Given the description of an element on the screen output the (x, y) to click on. 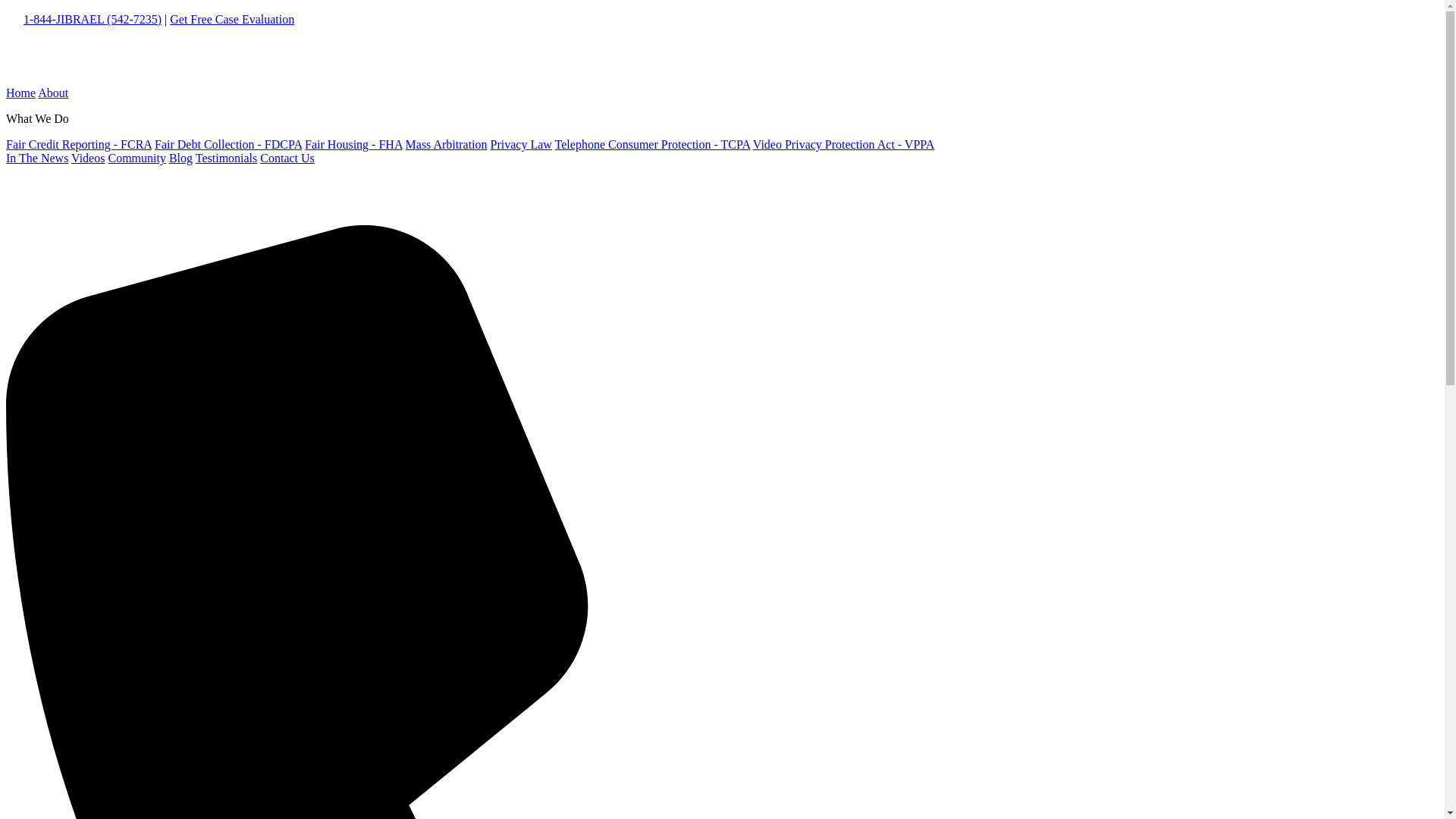
Fair Credit Reporting - FCRA (78, 144)
Home (19, 92)
Get Free Case Evaluation (232, 19)
Contact Us (287, 157)
Fair Housing - FHA (352, 144)
Blog (180, 157)
Testimonials (226, 157)
In The News (36, 157)
Mass Arbitration (446, 144)
Privacy Law (520, 144)
Community (136, 157)
Telephone Consumer Protection - TCPA (652, 144)
Fair Debt Collection - FDCPA (227, 144)
Videos (87, 157)
Video Privacy Protection Act - VPPA (843, 144)
